Given the description of an element on the screen output the (x, y) to click on. 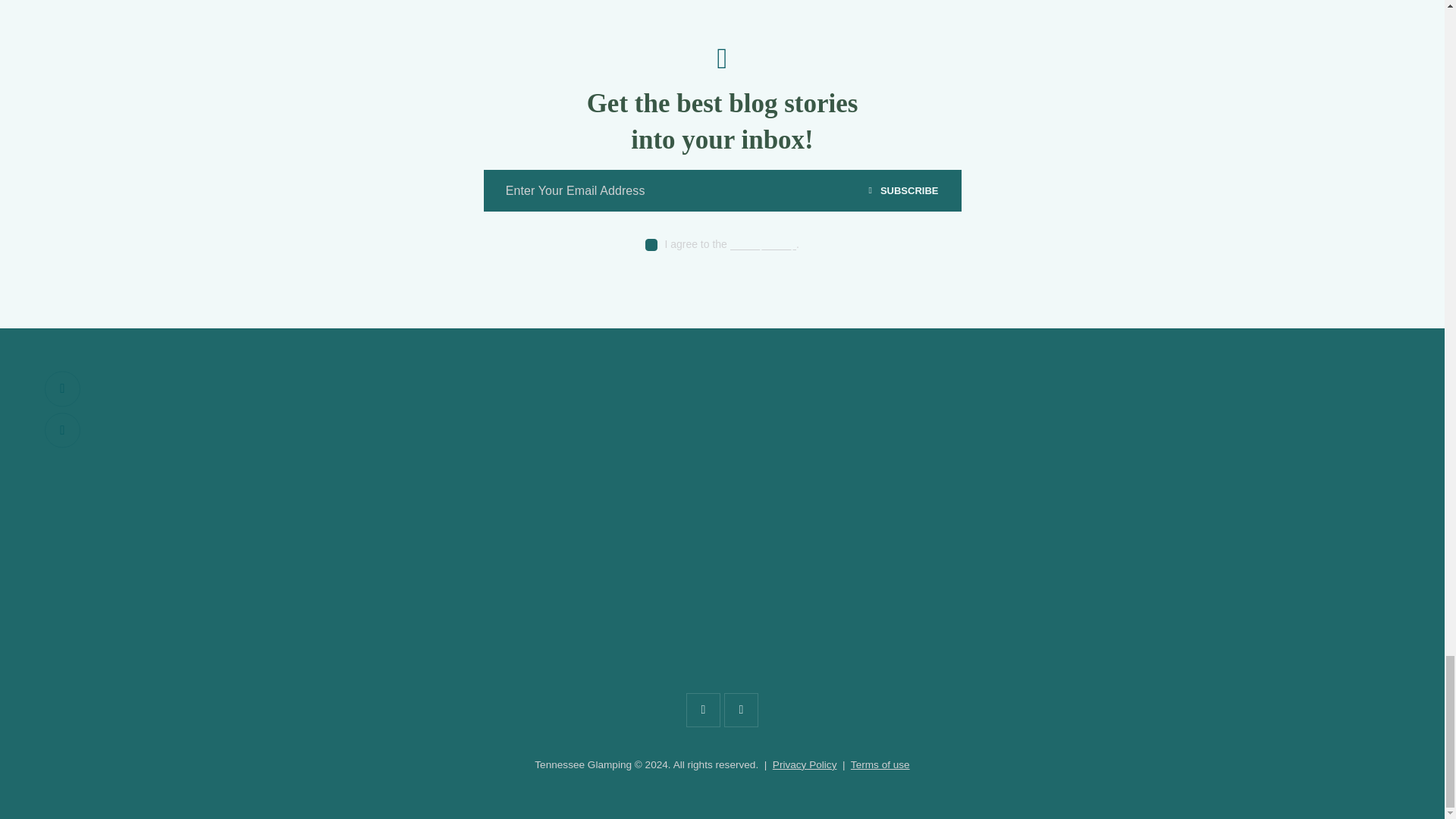
1 (965, 174)
